Given the description of an element on the screen output the (x, y) to click on. 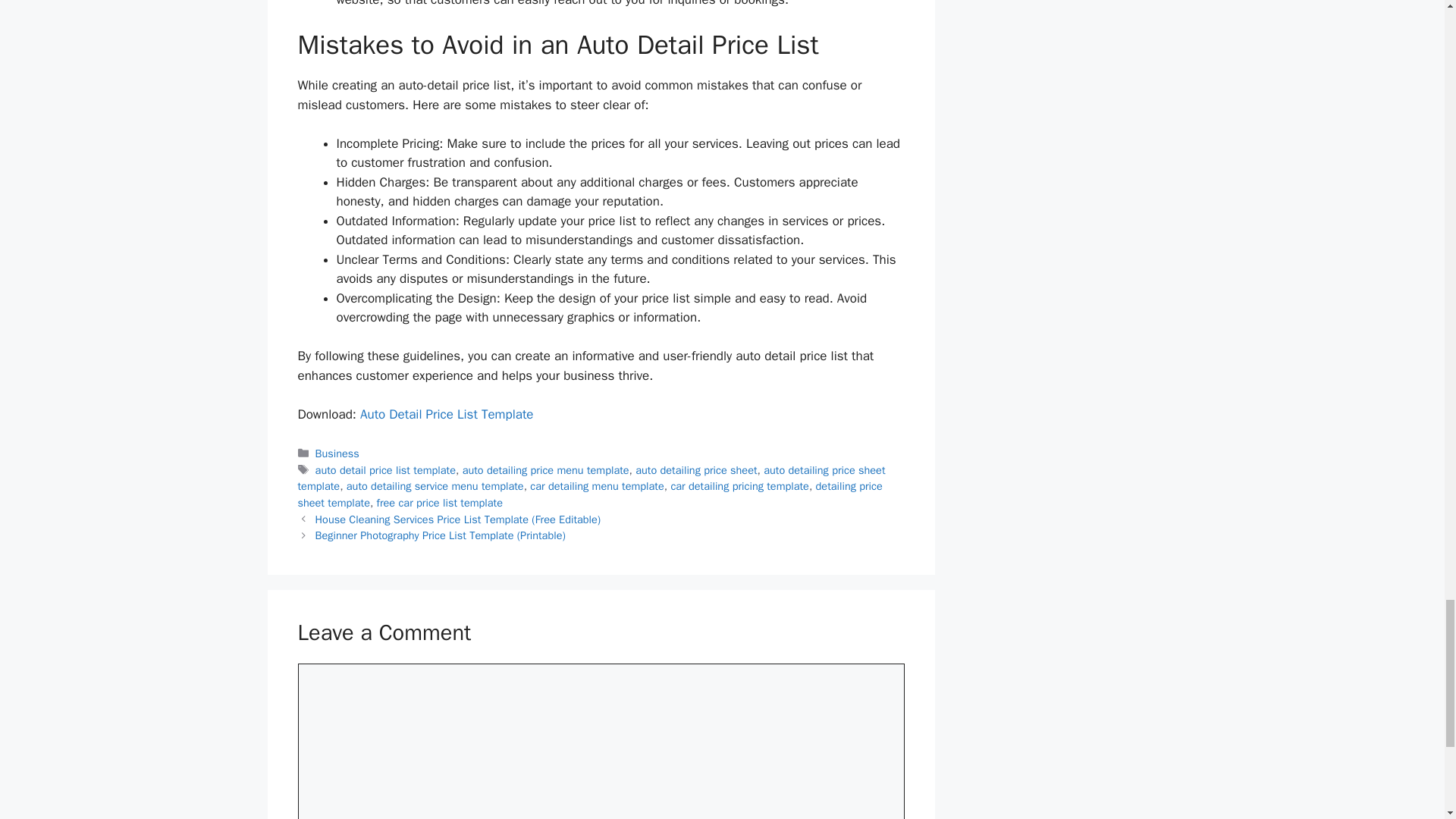
auto detail price list template (385, 469)
Business (337, 453)
auto detailing service menu template (435, 486)
auto detailing price sheet (695, 469)
car detailing pricing template (739, 486)
detailing price sheet template (589, 494)
car detailing menu template (596, 486)
free car price list template (439, 502)
auto detailing price menu template (545, 469)
auto detailing price sheet template (591, 478)
